Given the description of an element on the screen output the (x, y) to click on. 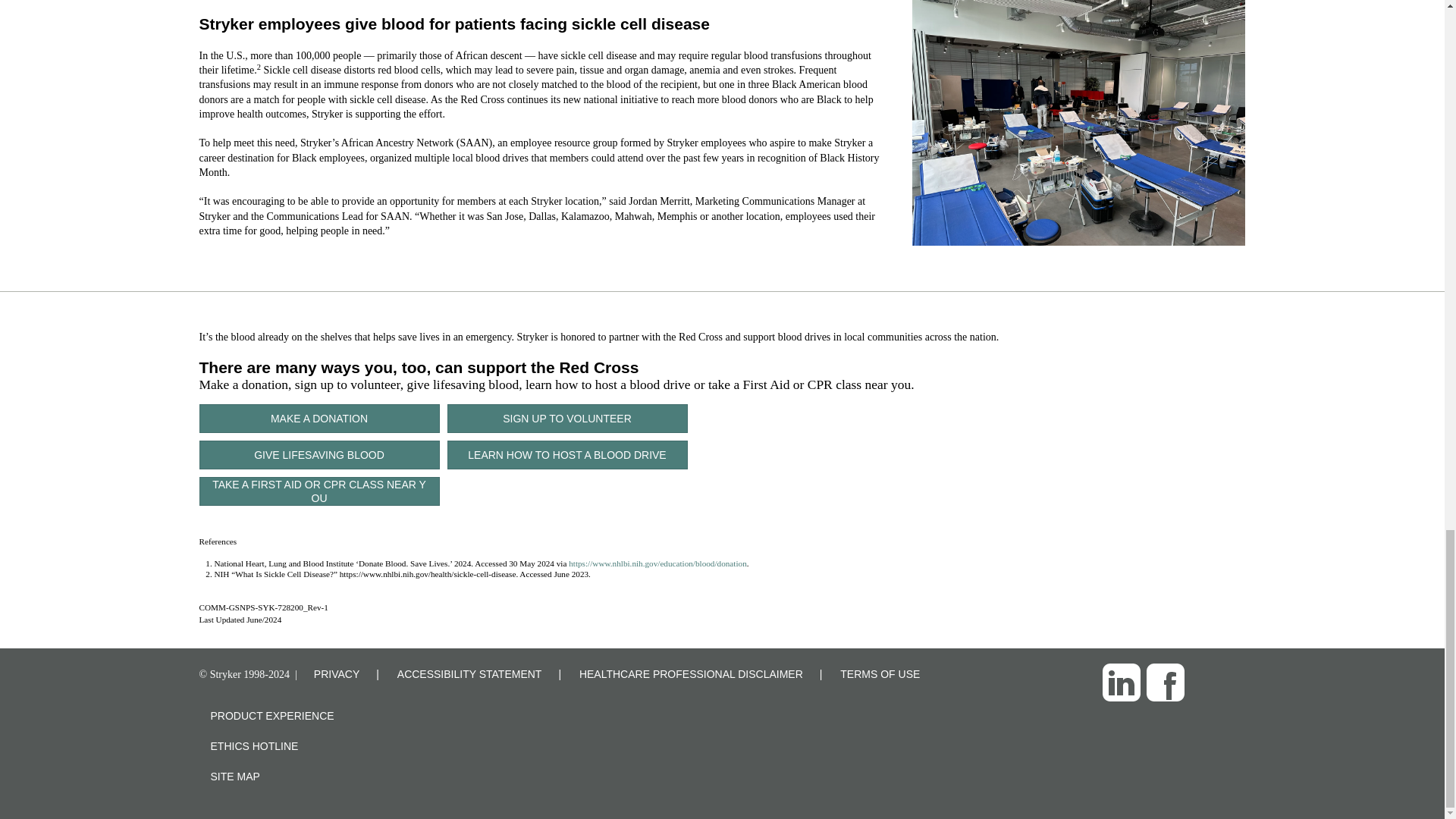
Blood drive (1077, 122)
